Given the description of an element on the screen output the (x, y) to click on. 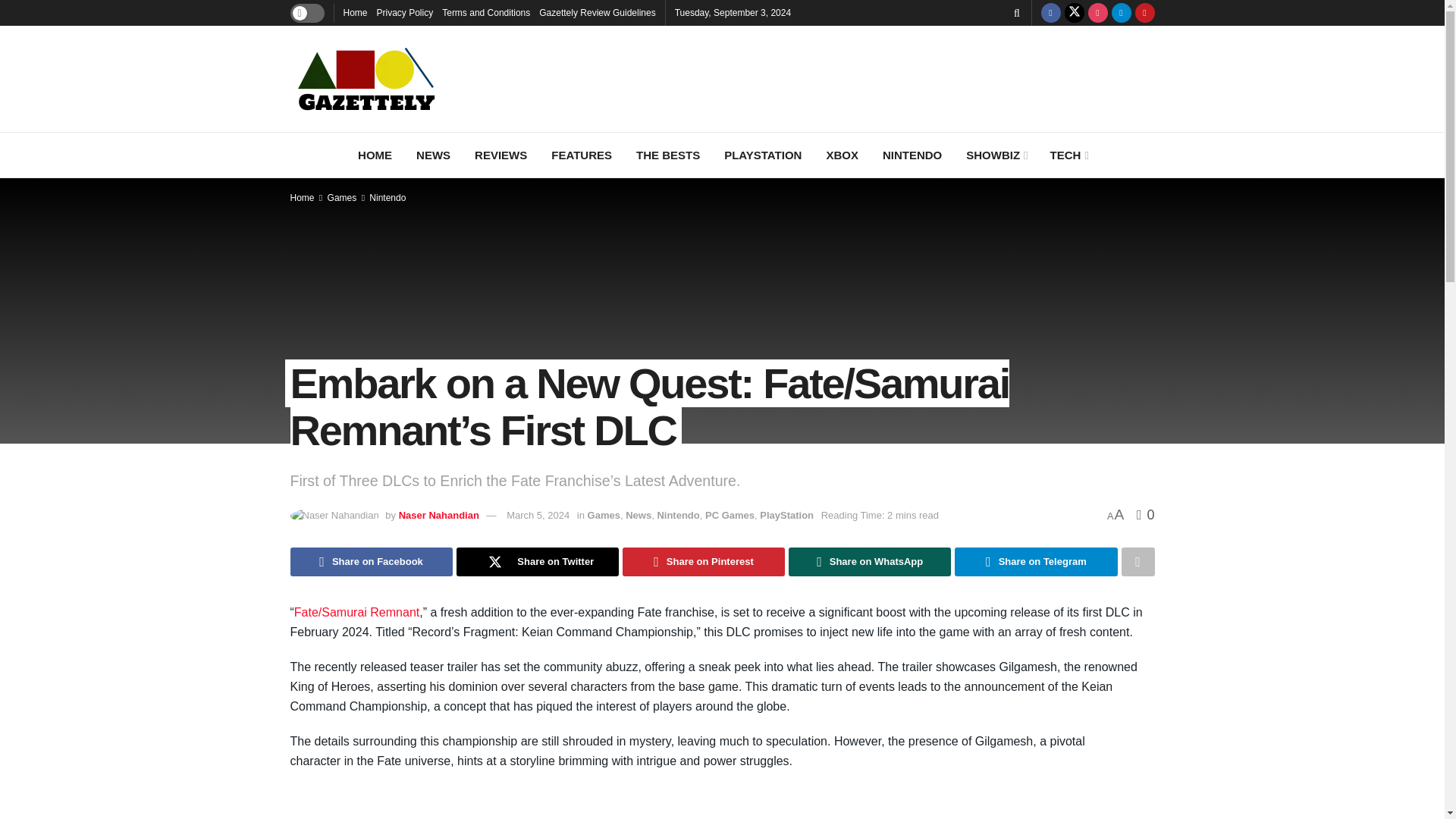
FEATURES (581, 154)
THE BESTS (667, 154)
PLAYSTATION (762, 154)
NINTENDO (911, 154)
XBOX (841, 154)
HOME (375, 154)
Gazettely Review Guidelines (596, 12)
Home (354, 12)
Privacy Policy (405, 12)
Terms and Conditions (485, 12)
